Given the description of an element on the screen output the (x, y) to click on. 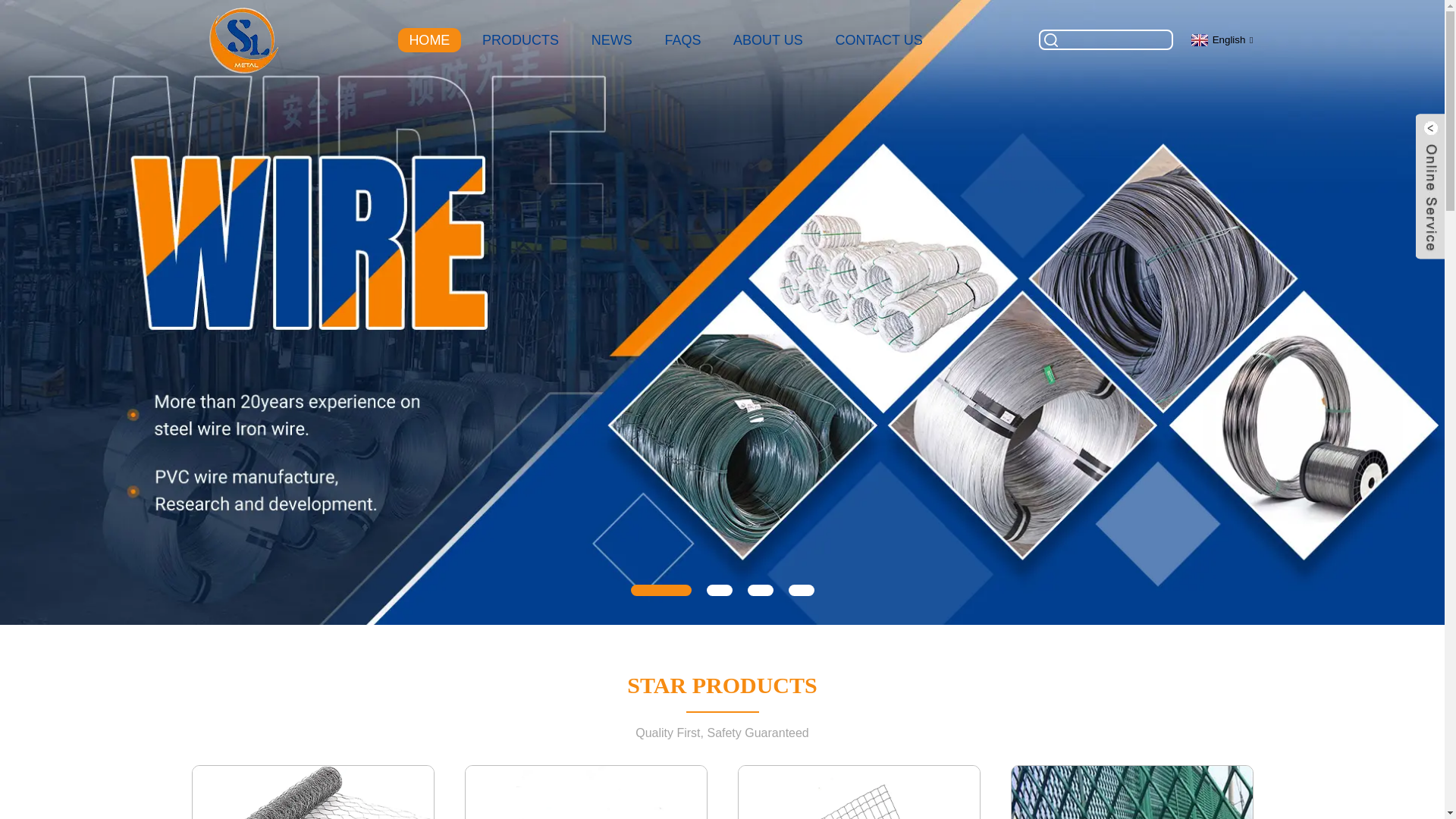
FAQS (682, 39)
CONTACT US (878, 39)
NEWS (611, 39)
English (1220, 39)
PRODUCTS (520, 39)
ABOUT US (767, 39)
HOME (429, 39)
